Given the description of an element on the screen output the (x, y) to click on. 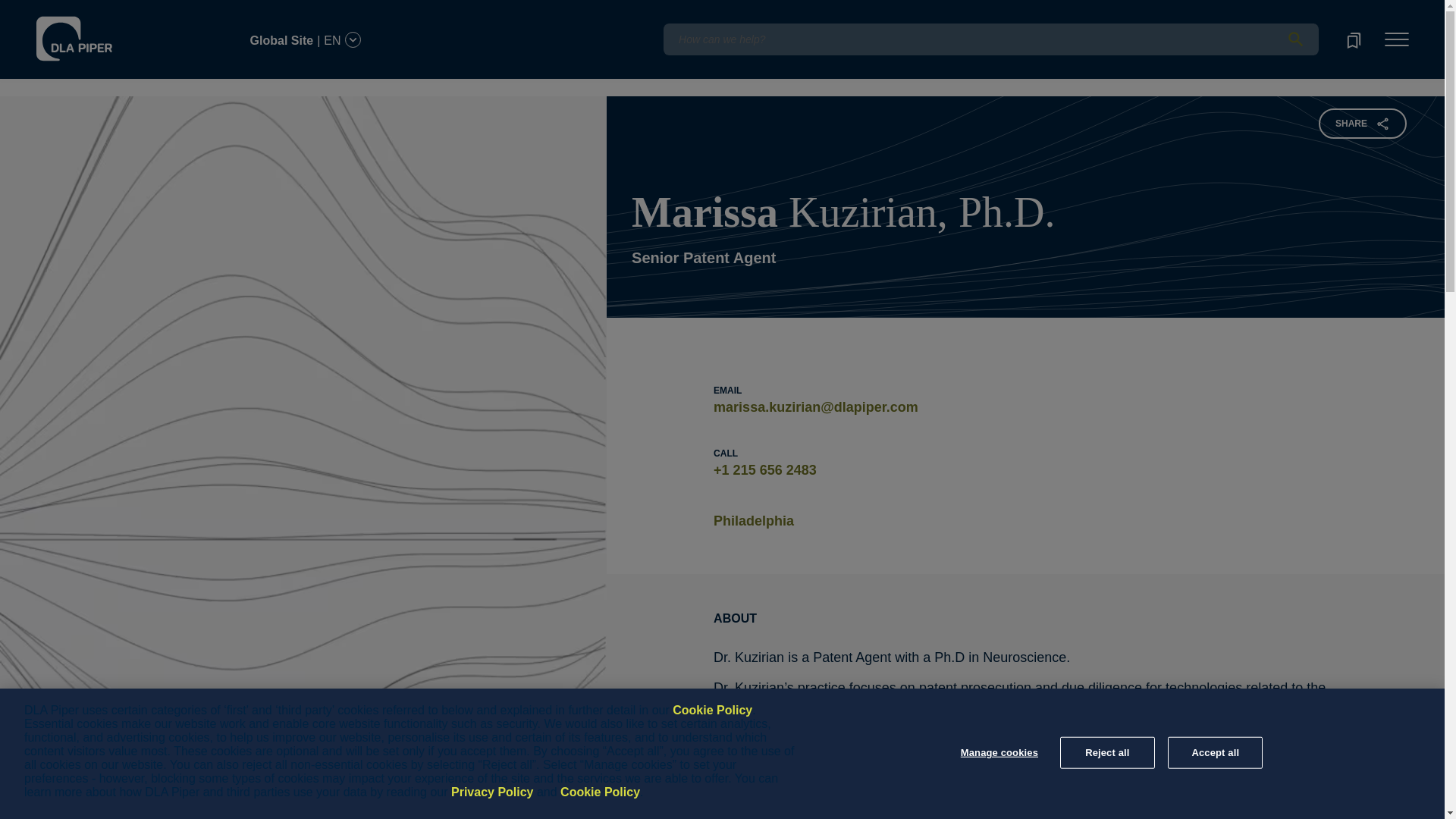
Deutsch (157, 11)
Insert a query. Press enter to send (990, 39)
English (115, 11)
English (116, 31)
